Given the description of an element on the screen output the (x, y) to click on. 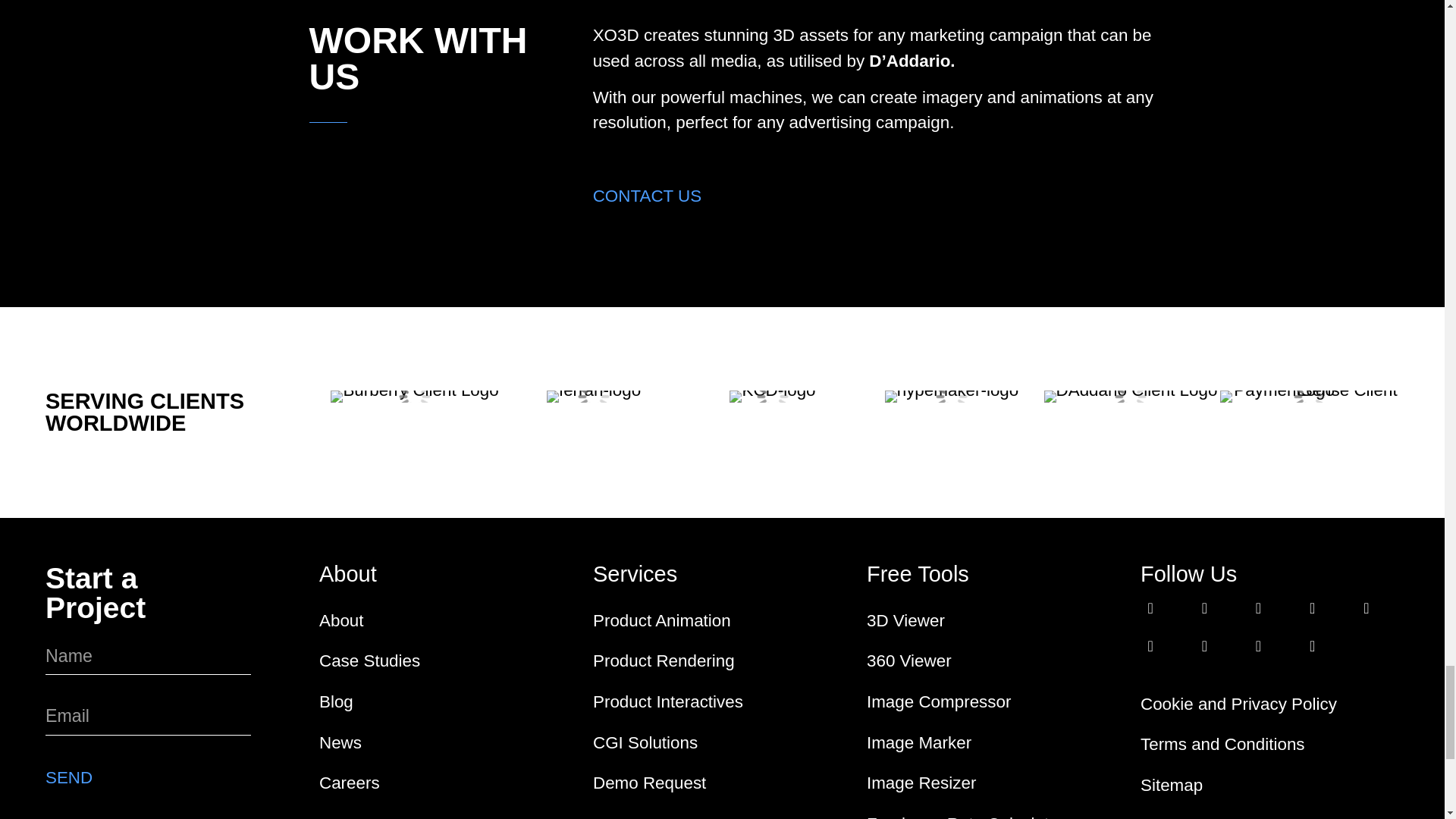
3D Viewer (995, 620)
CONTACT US (646, 195)
Case Studies (448, 660)
Image Compressor (995, 701)
Product Interactives (721, 701)
About (448, 620)
CGI Solutions (721, 741)
360 Viewer (995, 660)
Product Rendering (721, 660)
Demo Request (721, 782)
News (448, 741)
Careers (448, 782)
Blog (448, 701)
Image Marker (995, 741)
SEND (69, 777)
